Given the description of an element on the screen output the (x, y) to click on. 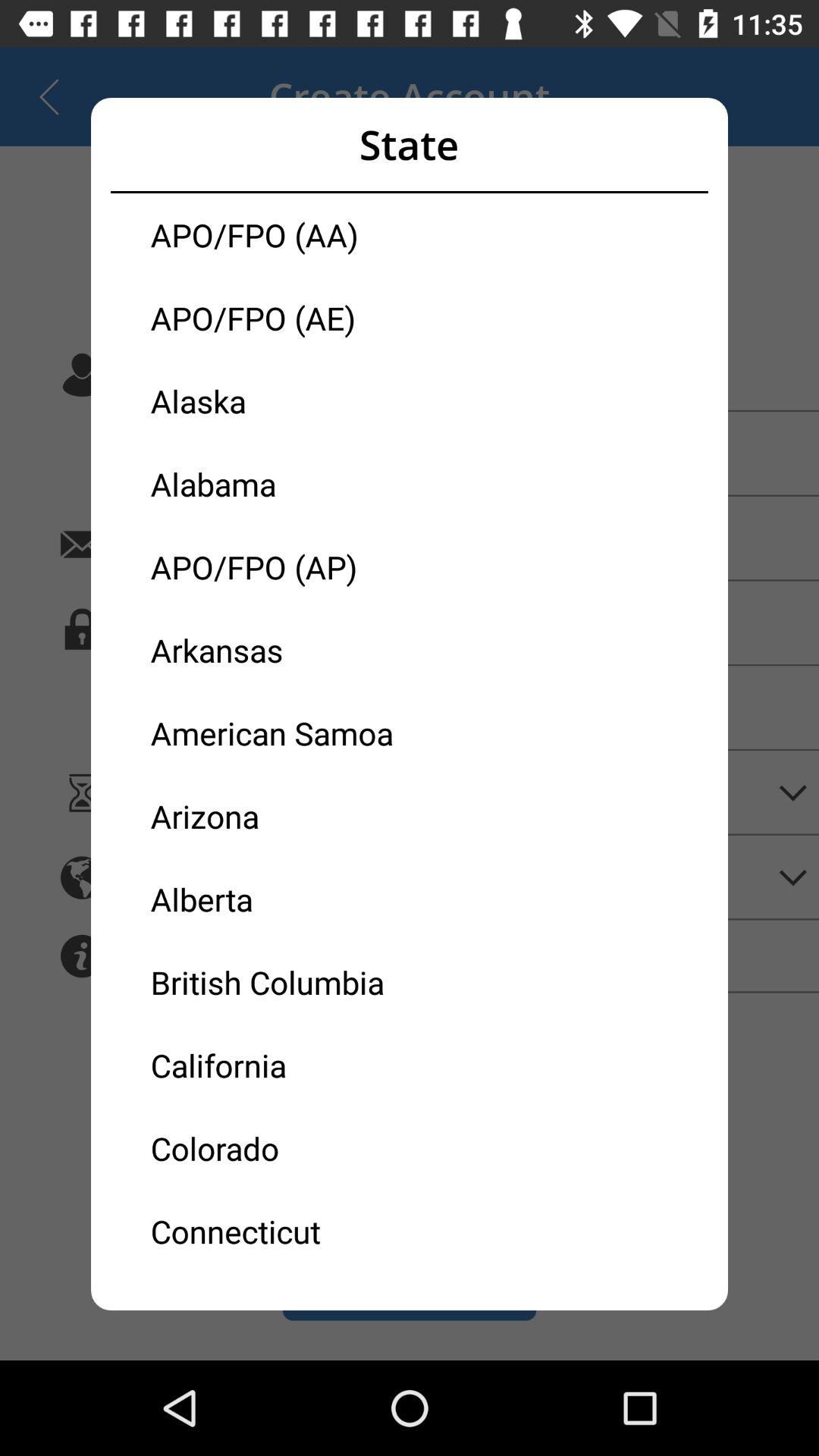
launch icon below the colorado icon (279, 1229)
